Given the description of an element on the screen output the (x, y) to click on. 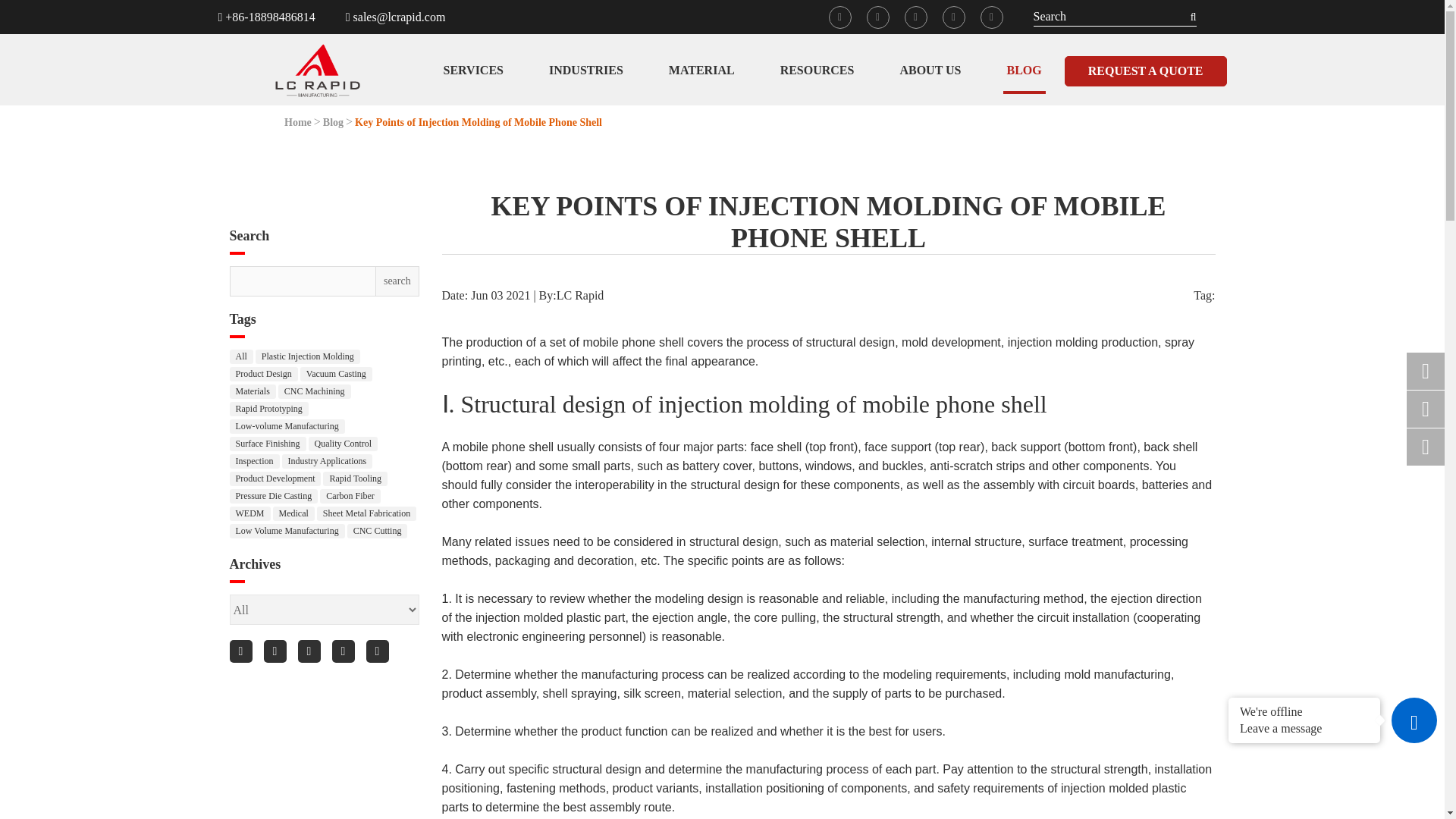
INDUSTRIES (585, 70)
SERVICES (472, 70)
Blog (333, 122)
RESOURCES (817, 70)
We're offline (1304, 710)
Leave a message (1304, 727)
MATERIAL (701, 70)
Key Points of Injection Molding of Mobile Phone Shell (478, 122)
